Given the description of an element on the screen output the (x, y) to click on. 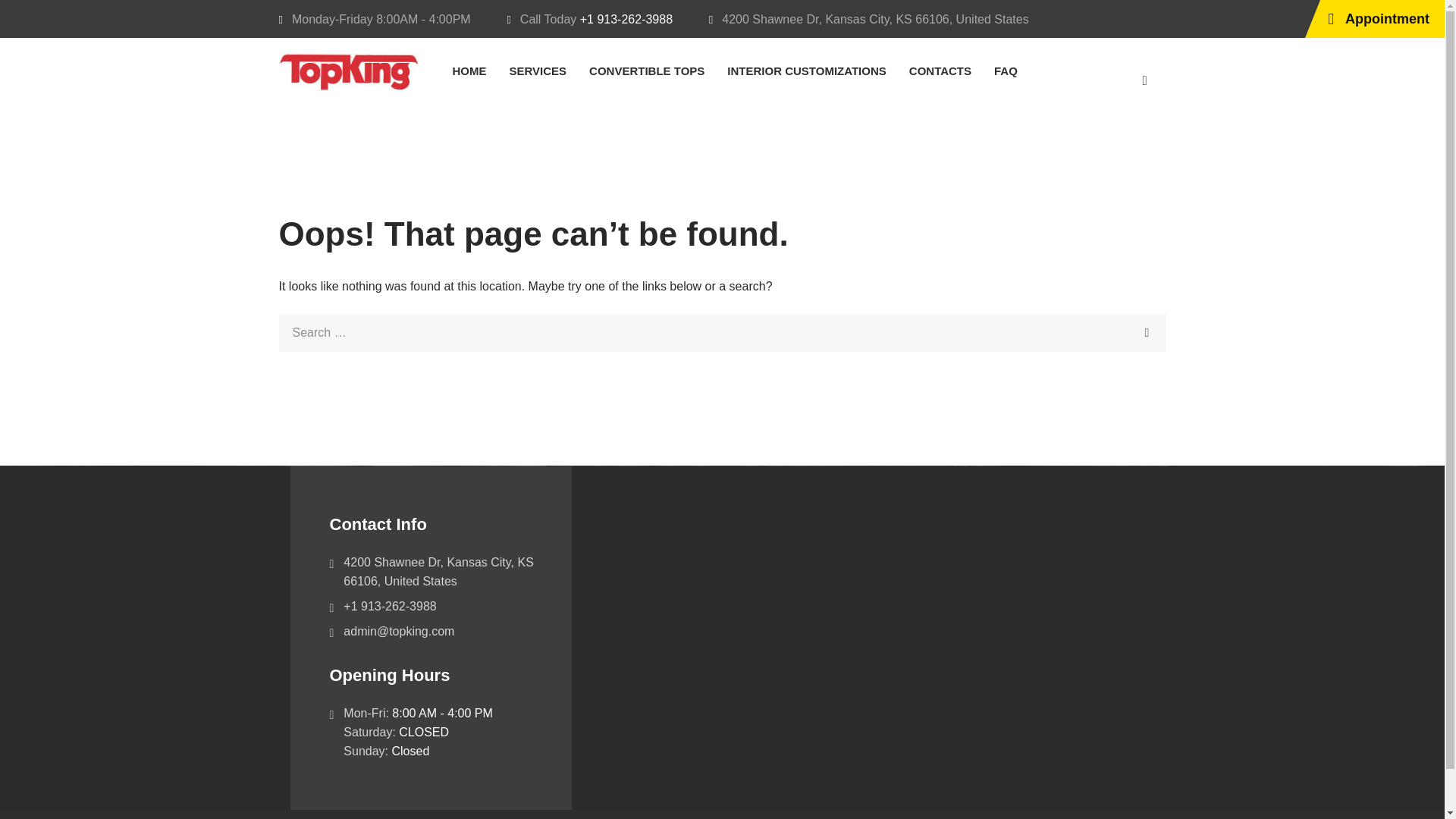
INTERIOR CUSTOMIZATIONS (806, 70)
CONVERTIBLE TOPS (647, 70)
SERVICES (537, 70)
FAQ (1005, 70)
CONTACTS (940, 70)
HOME (469, 70)
